Given the description of an element on the screen output the (x, y) to click on. 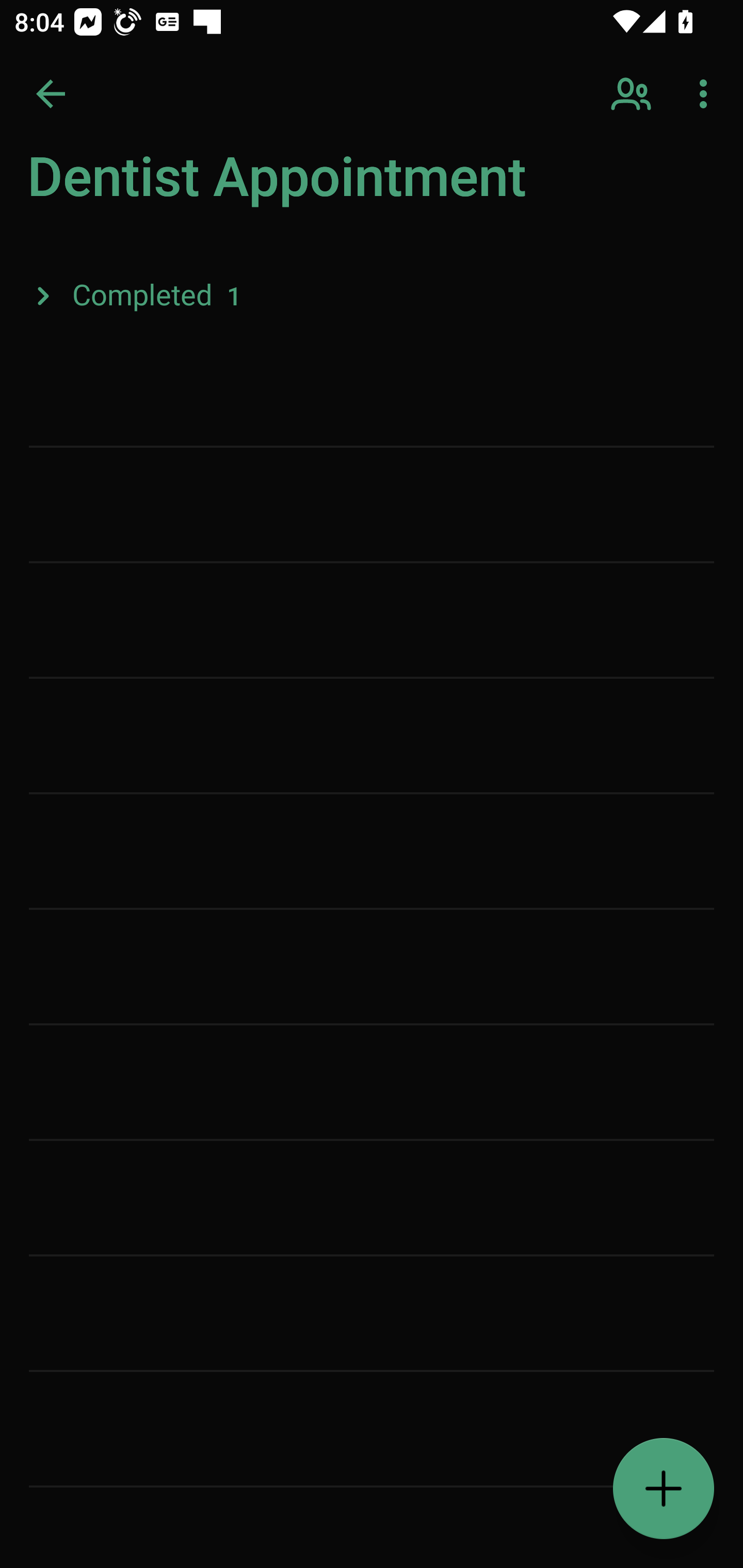
Back (50, 93)
Sharing options (632, 93)
More options (706, 93)
Completed, 1 item, Collapsed Completed 1 (371, 295)
Add a task (663, 1488)
